Given the description of an element on the screen output the (x, y) to click on. 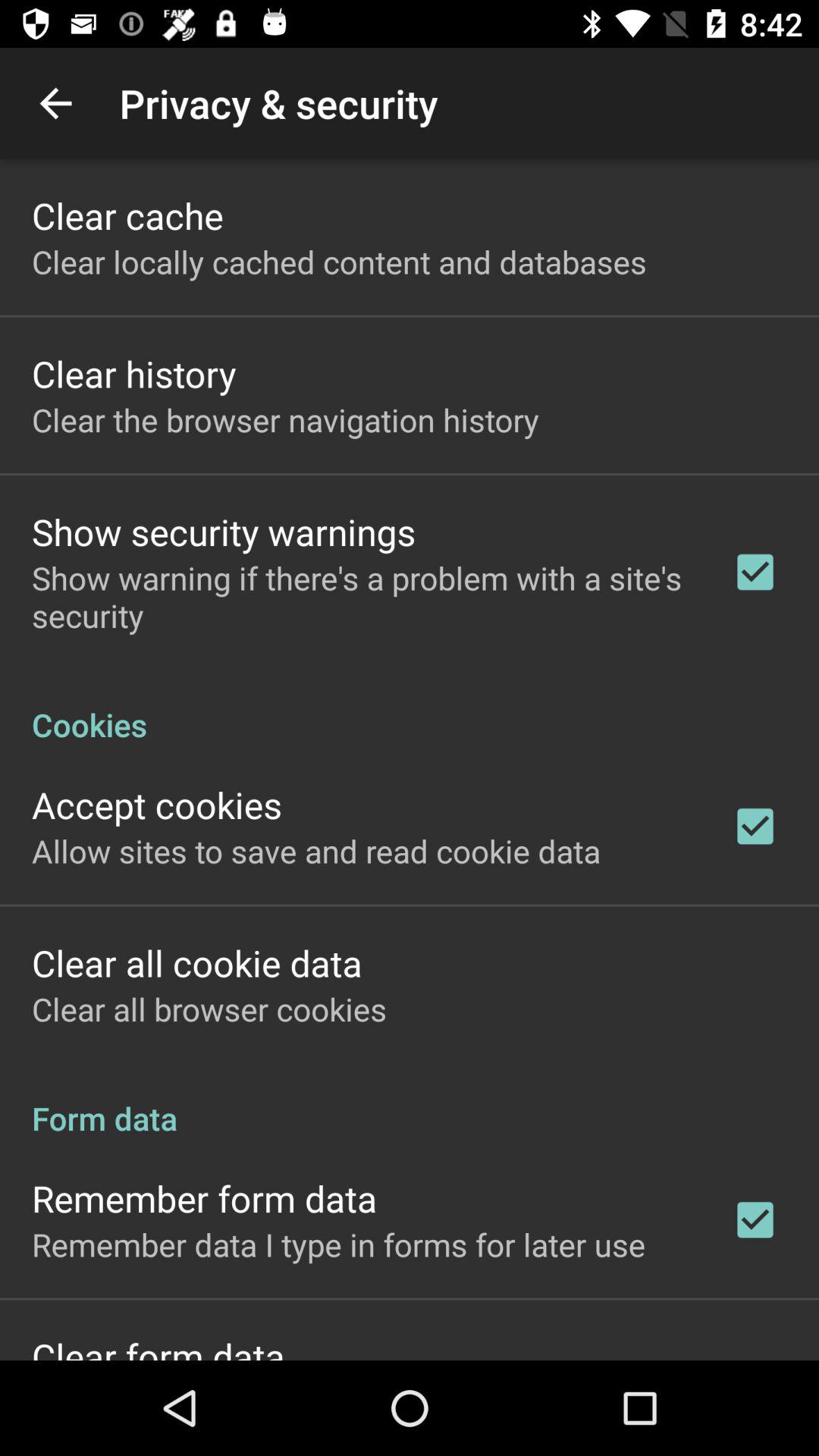
swipe to the clear cache item (127, 215)
